Given the description of an element on the screen output the (x, y) to click on. 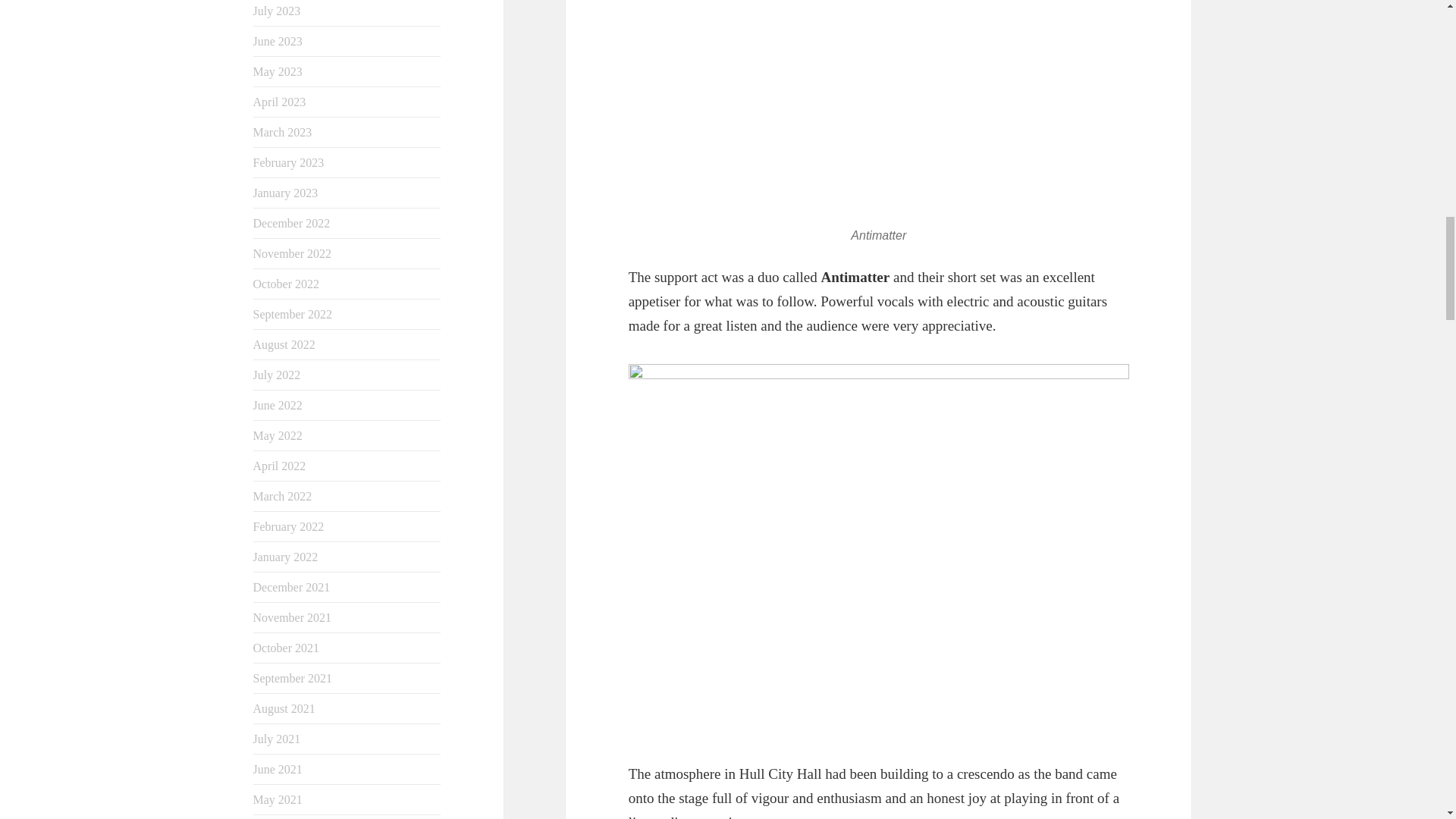
March 2023 (283, 132)
April 2023 (279, 101)
February 2023 (288, 162)
June 2023 (277, 41)
July 2023 (277, 10)
January 2023 (285, 192)
May 2023 (277, 71)
